Given the description of an element on the screen output the (x, y) to click on. 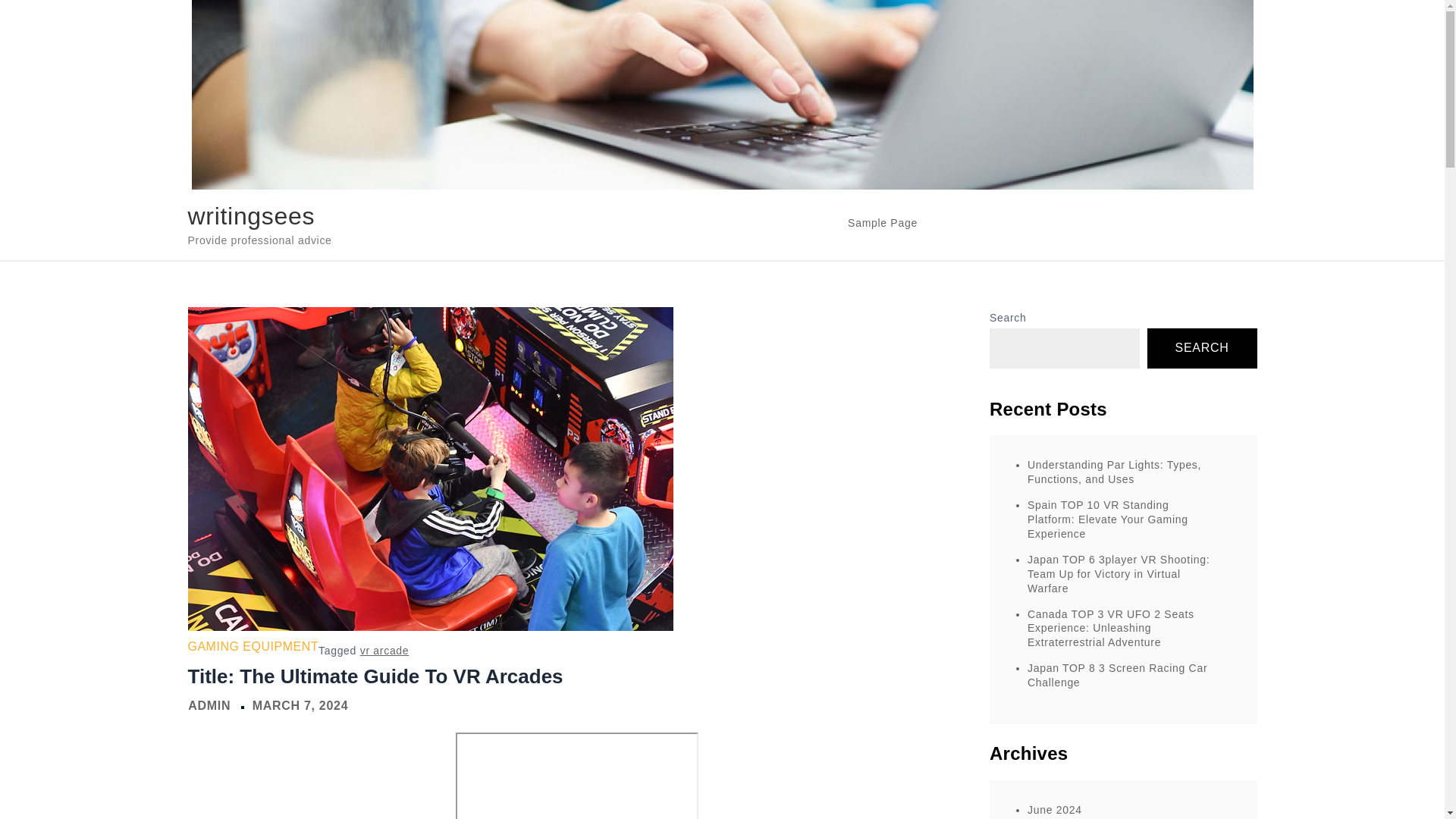
ADMIN (208, 705)
MARCH 7, 2024 (299, 705)
Japan TOP 8 3 Screen Racing Car Challenge (1117, 674)
GAMING EQUIPMENT (252, 646)
Sample Page (882, 222)
vr arcade (384, 650)
writingsees (251, 216)
SEARCH (1202, 348)
